Given the description of an element on the screen output the (x, y) to click on. 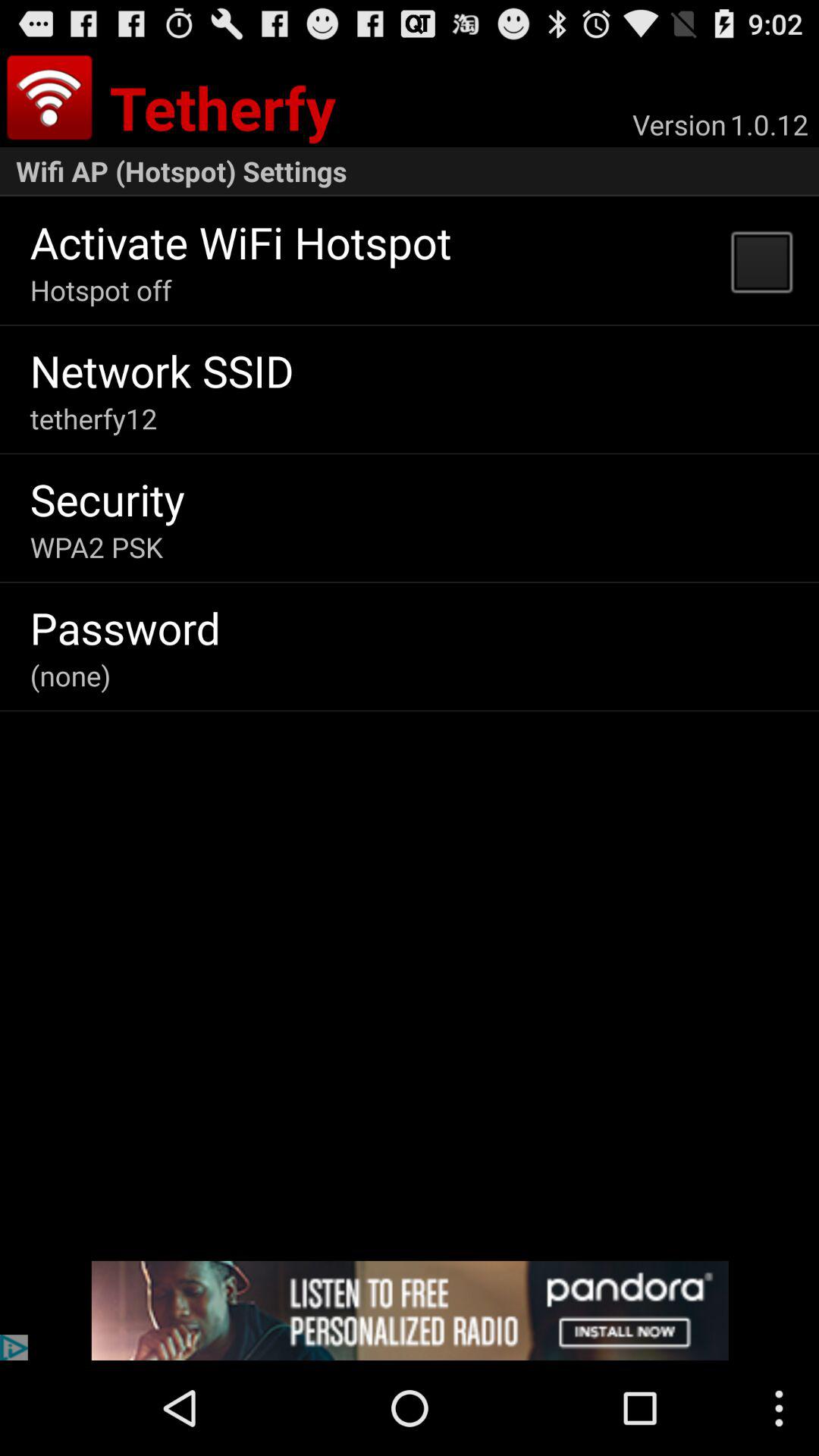
launch icon below password (70, 675)
